Given the description of an element on the screen output the (x, y) to click on. 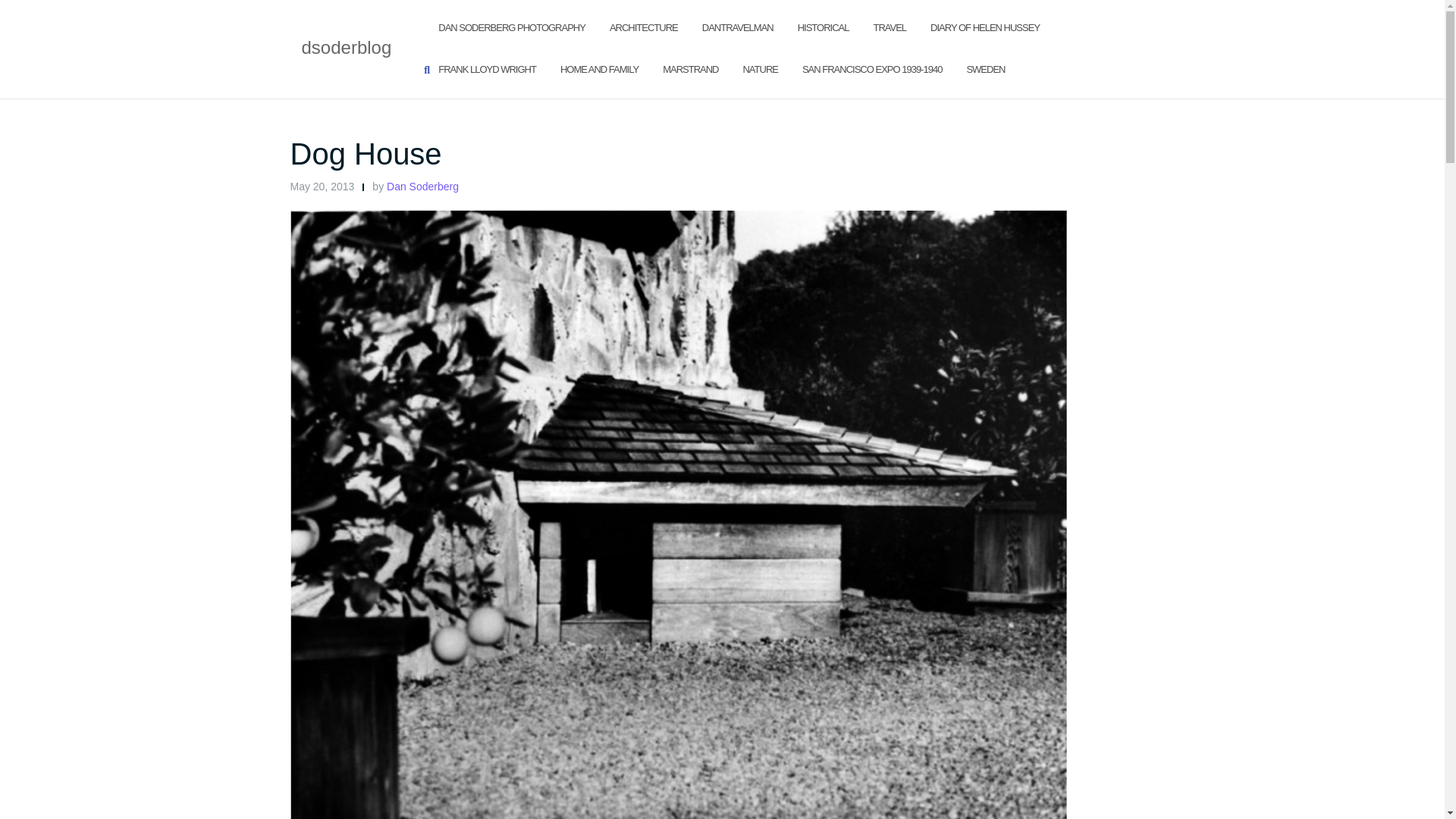
Historical (822, 28)
DanTravelman (737, 28)
San Francisco Expo 1939-1940 (872, 69)
Frank Lloyd Wright (486, 69)
ARCHITECTURE (644, 28)
Diary of Helen Hussey (984, 28)
HOME AND FAMILY (599, 69)
SWEDEN (985, 69)
MARSTRAND (689, 69)
Dan Soderberg Photography (511, 28)
